Given the description of an element on the screen output the (x, y) to click on. 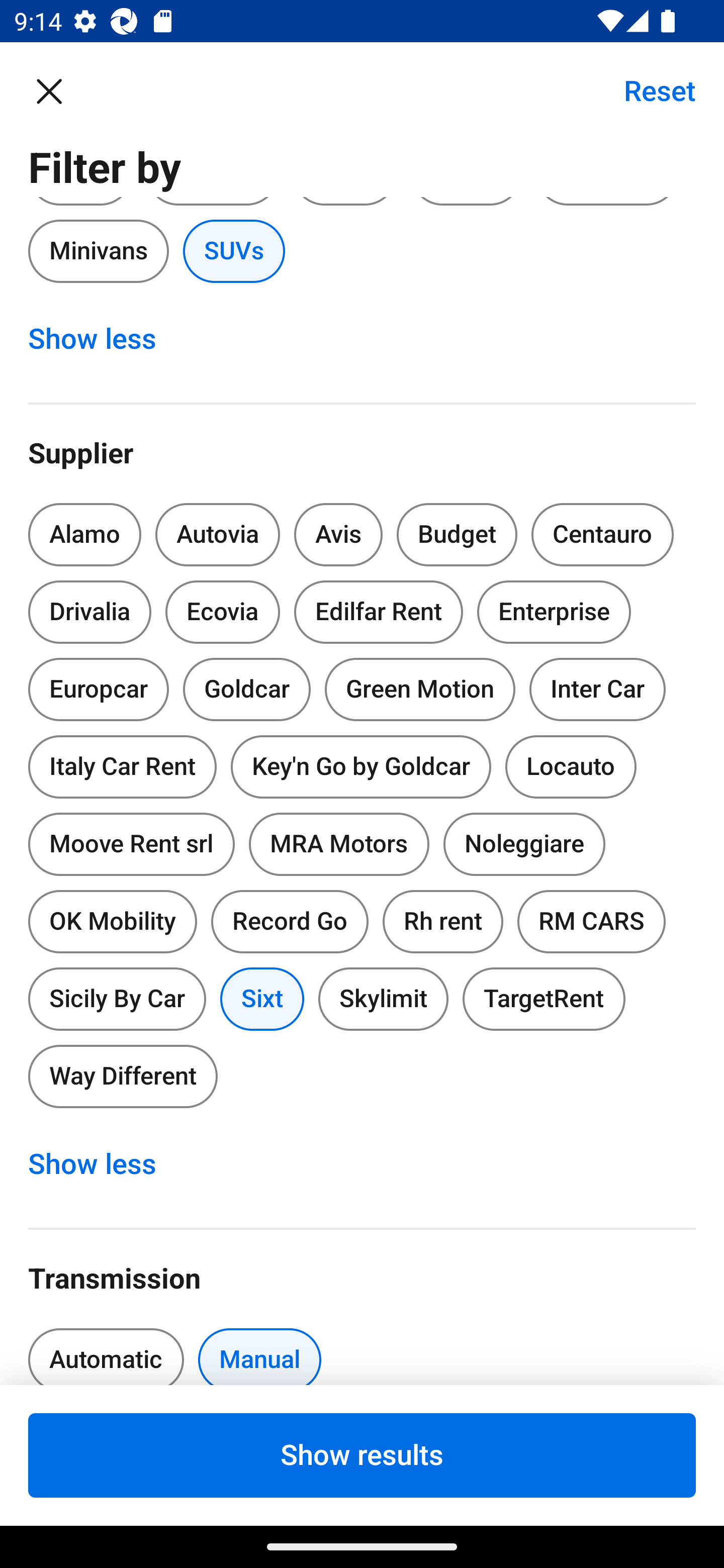
Close (59, 90)
Reset (649, 90)
Minivans (98, 250)
Show less (102, 338)
Alamo (84, 534)
Autovia (217, 534)
Avis (338, 534)
Budget (456, 534)
Centauro (602, 534)
Drivalia (89, 611)
Ecovia (222, 611)
Edilfar Rent (377, 611)
Enterprise (553, 611)
Europcar (98, 685)
Goldcar (246, 689)
Green Motion (420, 689)
Inter Car (597, 689)
Italy Car Rent (122, 763)
Key'n Go by Goldcar (360, 766)
Locauto (570, 766)
Moove Rent srl (131, 843)
MRA Motors (339, 843)
Noleggiare (524, 843)
OK Mobility (112, 917)
Record Go (289, 921)
Rh rent (442, 921)
RM CARS (591, 921)
Sicily By Car (117, 995)
Skylimit (383, 998)
TargetRent (543, 998)
Way Different (122, 1075)
Show less (102, 1164)
Automatic (105, 1350)
Show results (361, 1454)
